Given the description of an element on the screen output the (x, y) to click on. 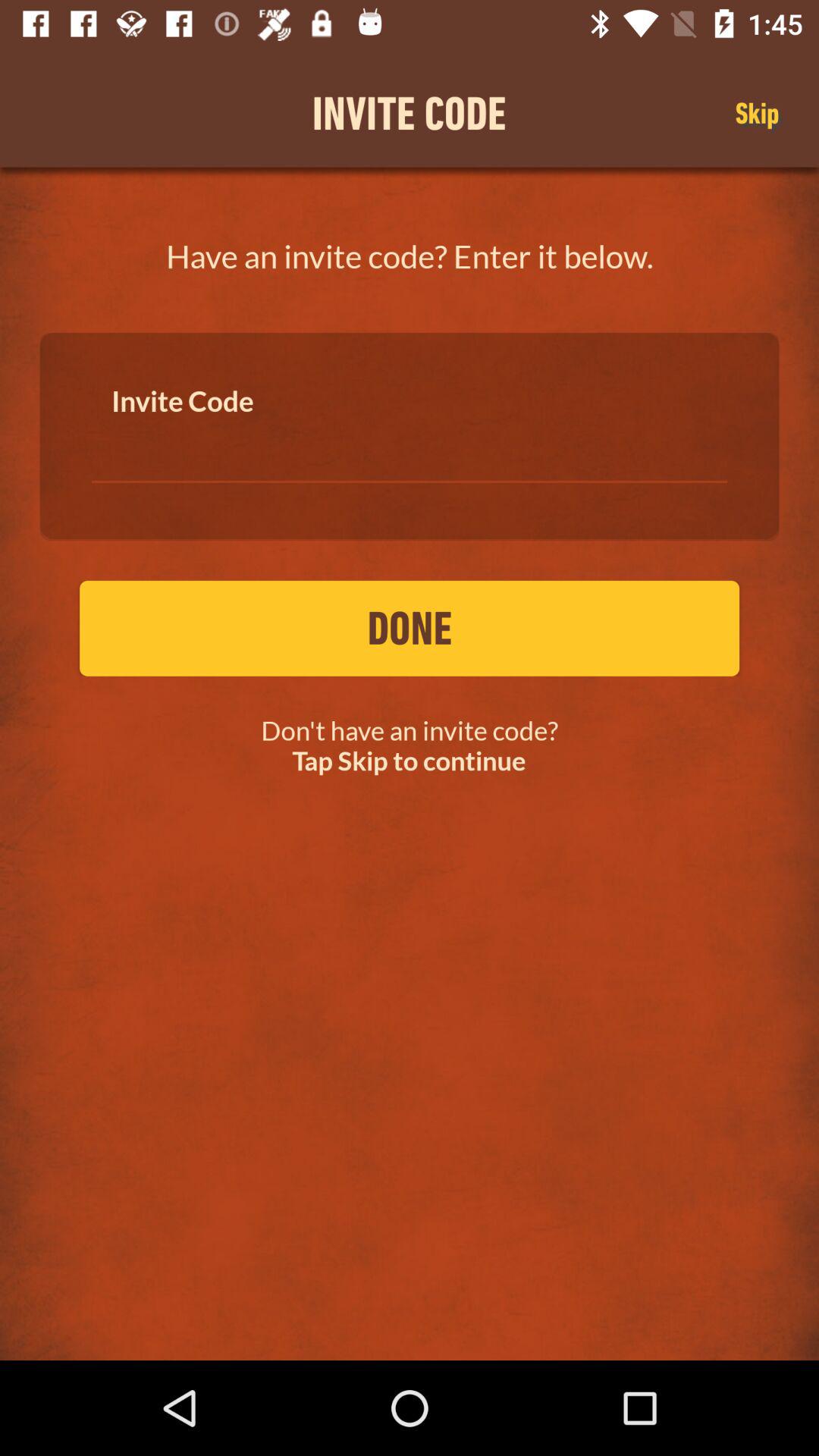
type invitation code (409, 446)
